Given the description of an element on the screen output the (x, y) to click on. 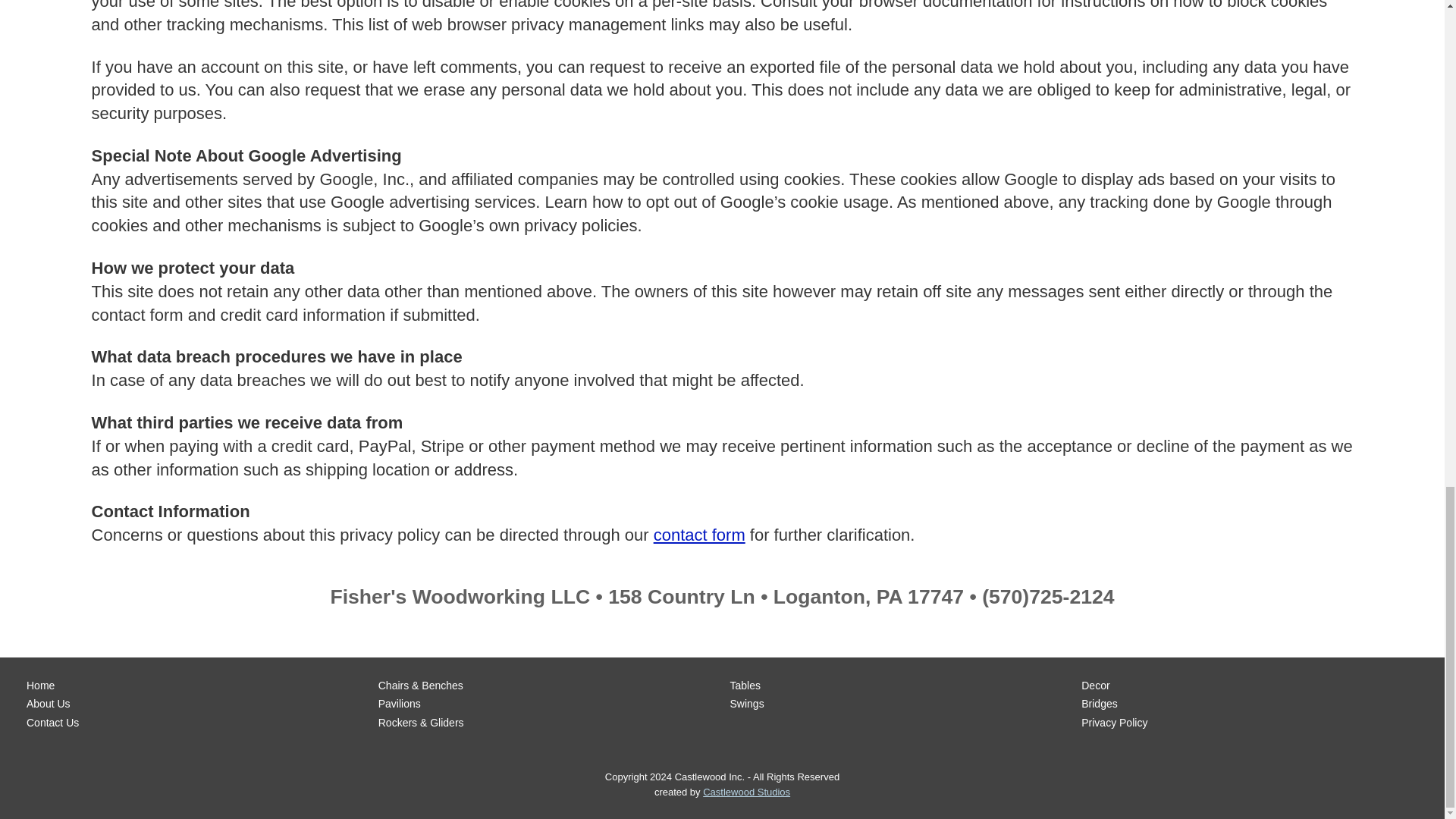
contact form (699, 534)
Swings (901, 703)
Pavilions (550, 703)
Castlewood Studios (746, 791)
Privacy Policy (1253, 722)
Home (198, 685)
About Us (198, 703)
Bridges (1253, 703)
Decor (1253, 685)
Tables (901, 685)
Contact Us (198, 722)
